Given the description of an element on the screen output the (x, y) to click on. 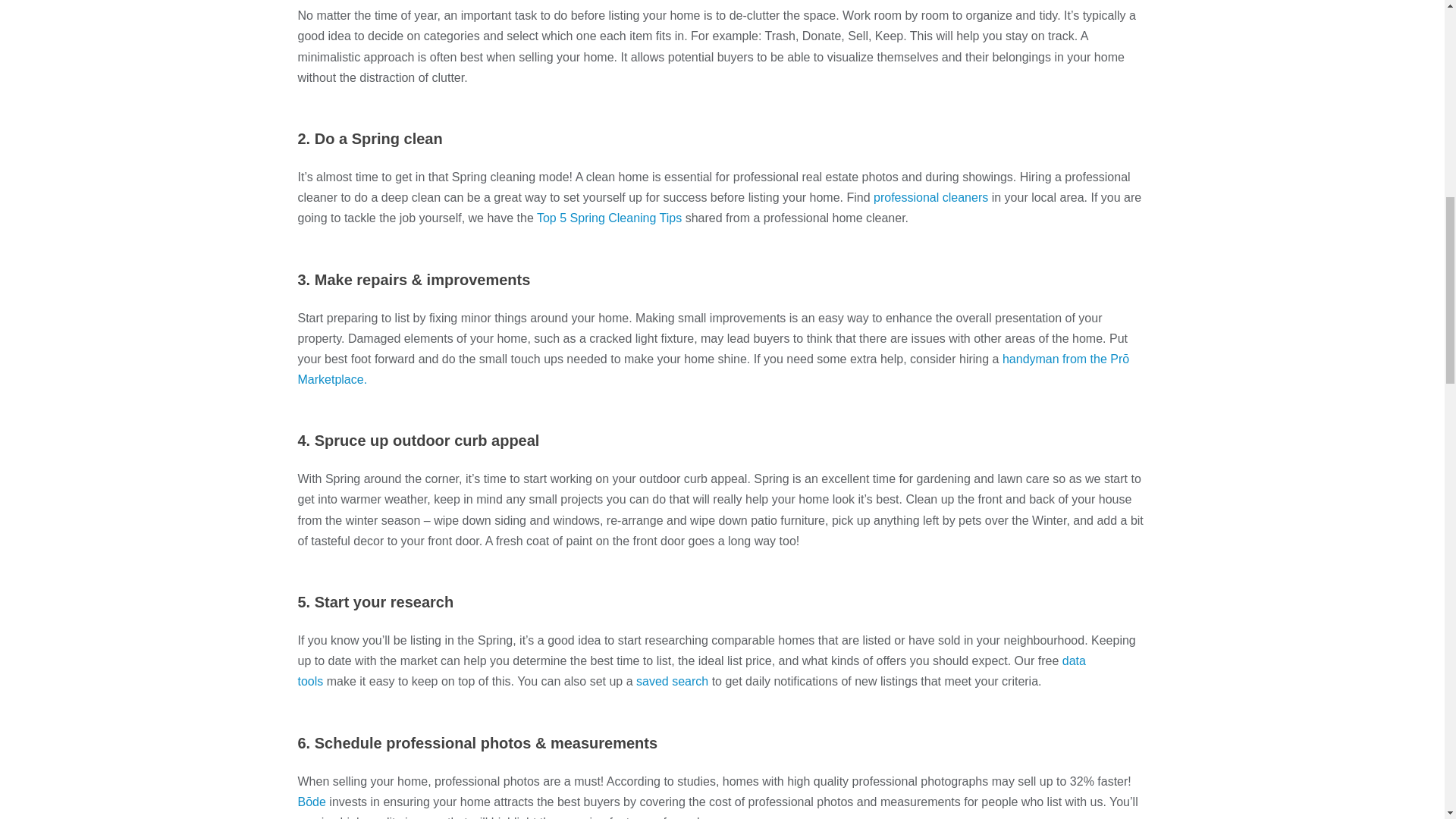
saved search (671, 680)
professional cleaners (930, 196)
Top 5 Spring Cleaning Tips (609, 217)
data tools (690, 670)
